Given the description of an element on the screen output the (x, y) to click on. 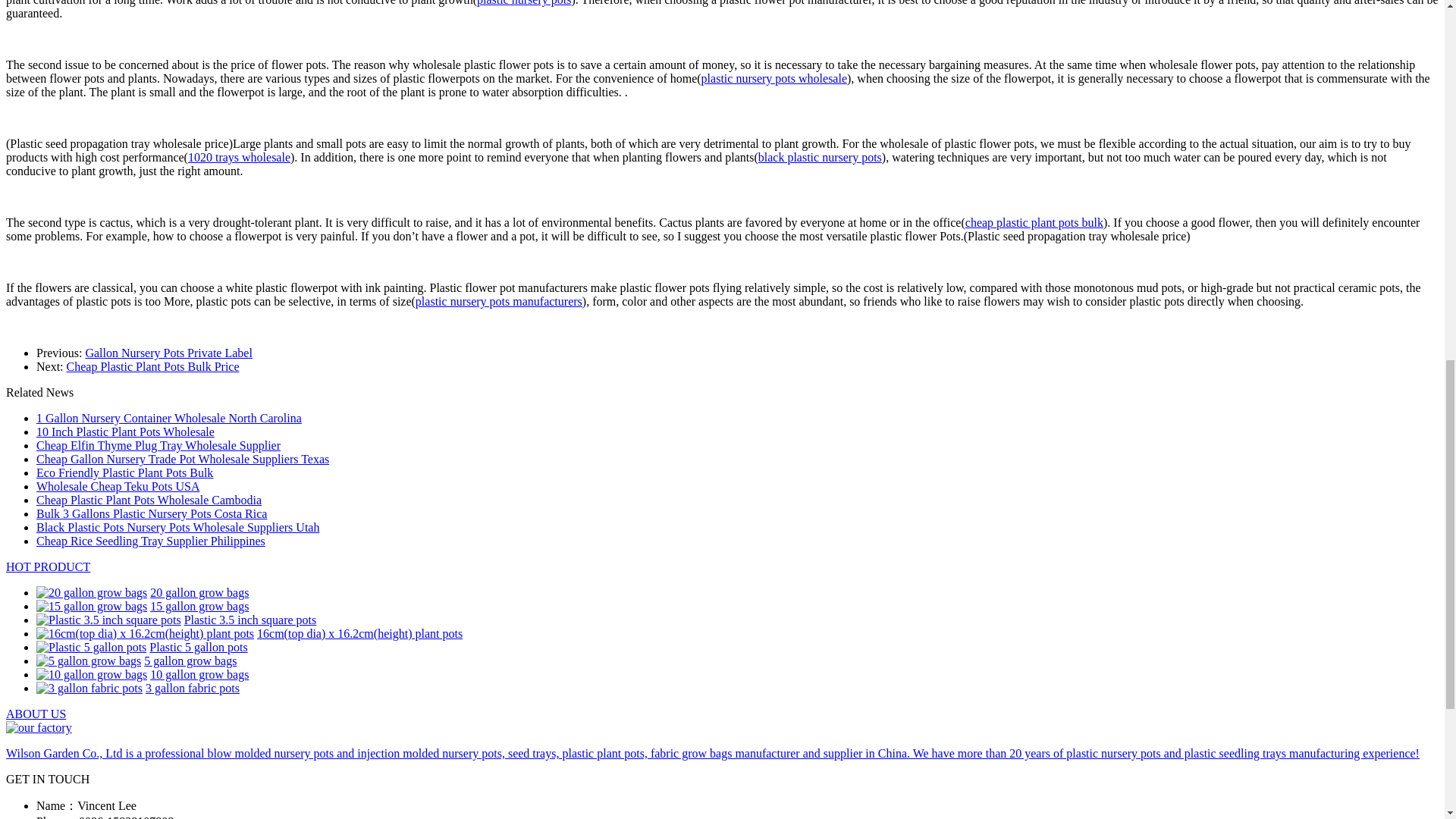
Wholesale Cheap Teku Pots USA (117, 486)
10 Inch Plastic Plant Pots Wholesale (125, 431)
Cheap Plastic Plant Pots Wholesale Cambodia (149, 499)
cheap plastic plant pots bulk (1034, 222)
plastic nursery pots (523, 2)
Cheap Gallon Nursery Trade Pot Wholesale Suppliers Texas (182, 459)
Black Plastic Pots Nursery Pots Wholesale Suppliers Utah (177, 526)
1020 trays wholesale (238, 156)
Cheap Elfin Thyme Plug Tray Wholesale Supplier (158, 445)
Eco Friendly Plastic Plant Pots Bulk (124, 472)
